Given the description of an element on the screen output the (x, y) to click on. 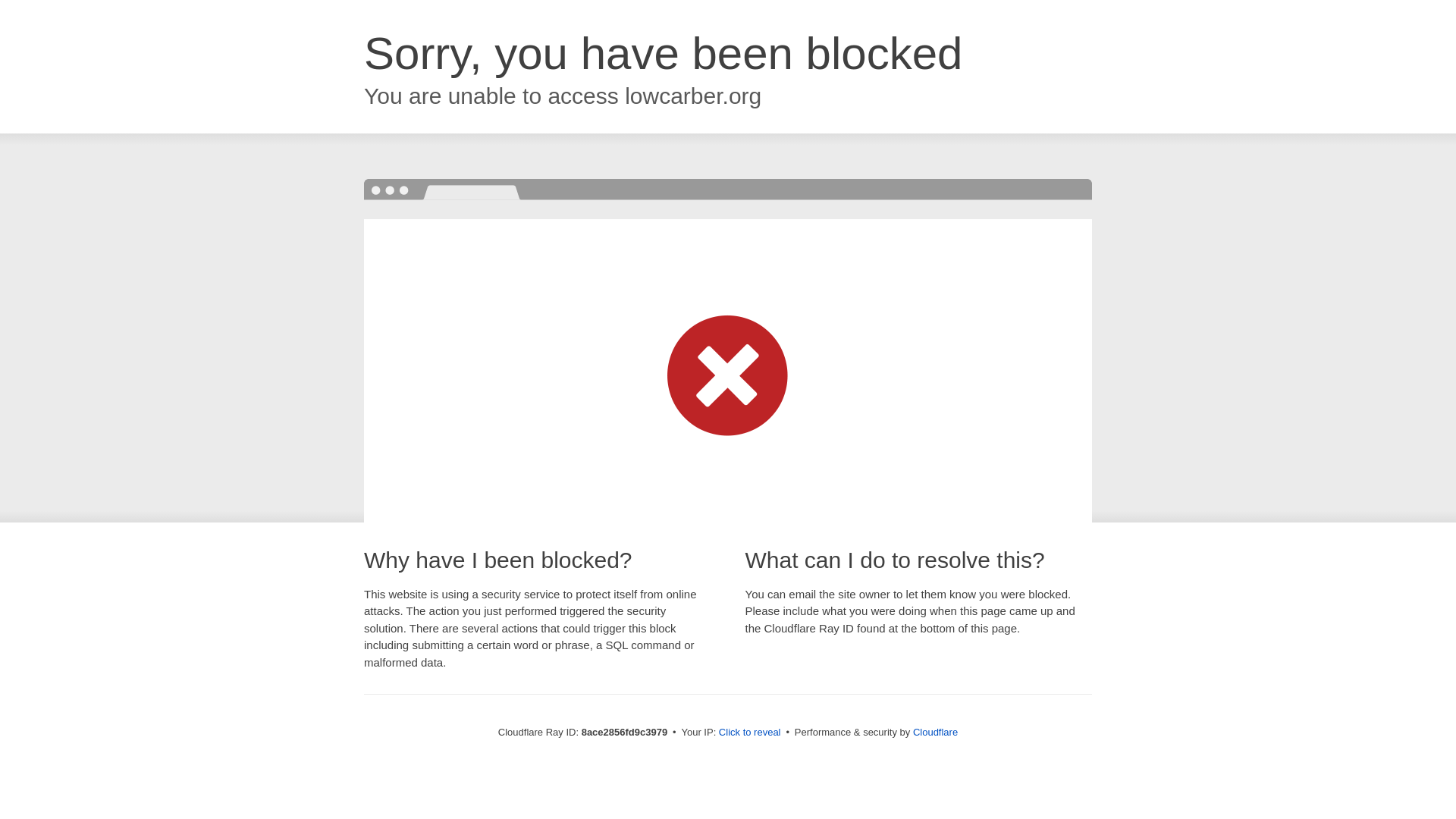
Click to reveal (749, 732)
Cloudflare (935, 731)
